Given the description of an element on the screen output the (x, y) to click on. 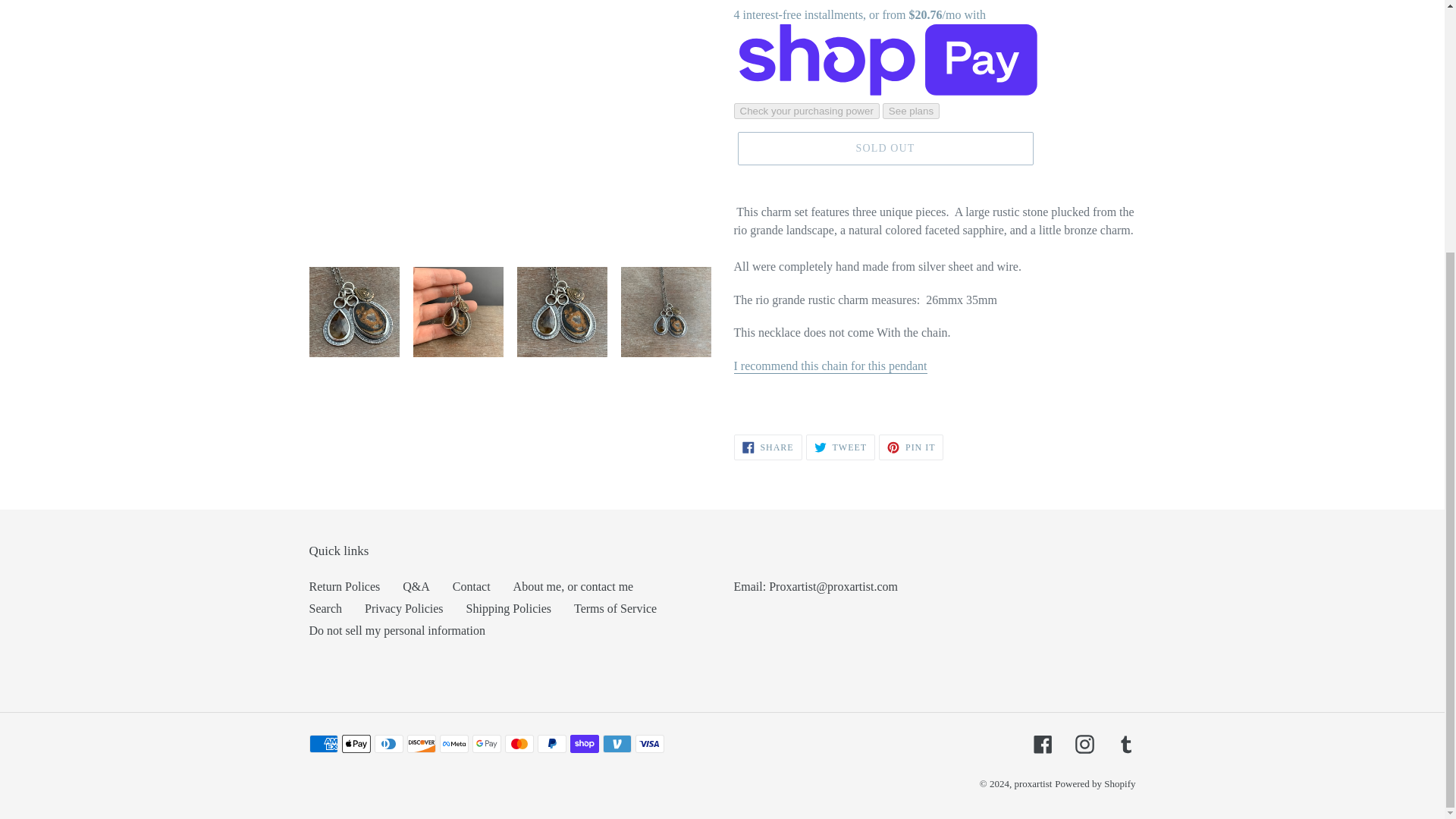
SOLD OUT (884, 148)
chain  (830, 366)
I recommend this chain for this pendant (830, 366)
